Given the description of an element on the screen output the (x, y) to click on. 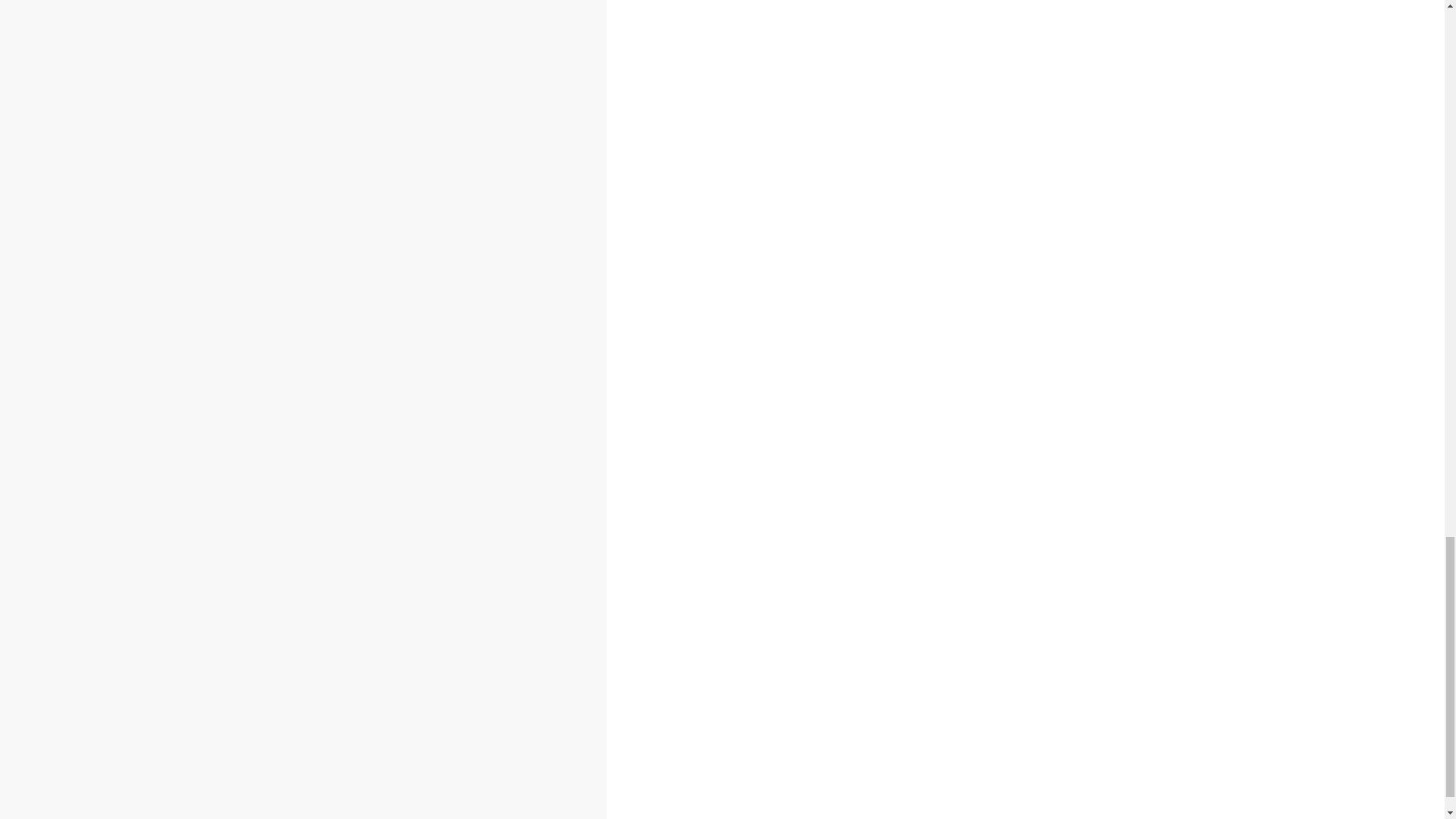
March 2023 (275, 412)
Gambling (69, 140)
January 2023 (279, 446)
January 2024 (279, 242)
March 2024 (275, 209)
May 2024 (270, 174)
December 2023 (286, 259)
November 2023 (286, 277)
April 2024 (270, 192)
September 2023 (288, 310)
April 2023 (270, 395)
May 2023 (270, 378)
August 2023 (277, 328)
February 2024 (281, 225)
